Given the description of an element on the screen output the (x, y) to click on. 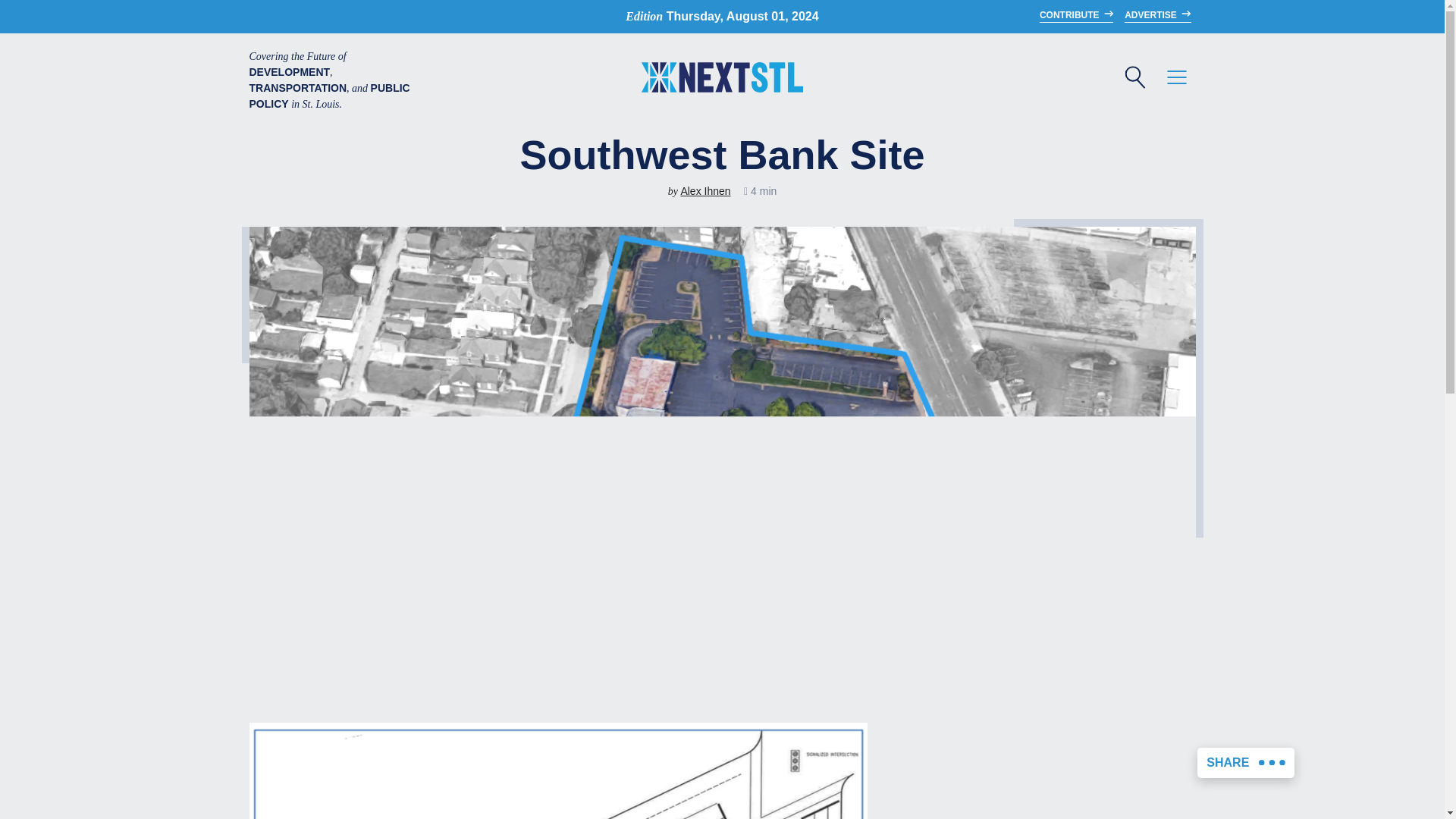
CONTRIBUTE (1076, 15)
Alex Ihnen (704, 191)
SHARE (1245, 762)
go to home page (722, 80)
DEVELOPMENT (657, 25)
ADVERTISE (1157, 15)
